Given the description of an element on the screen output the (x, y) to click on. 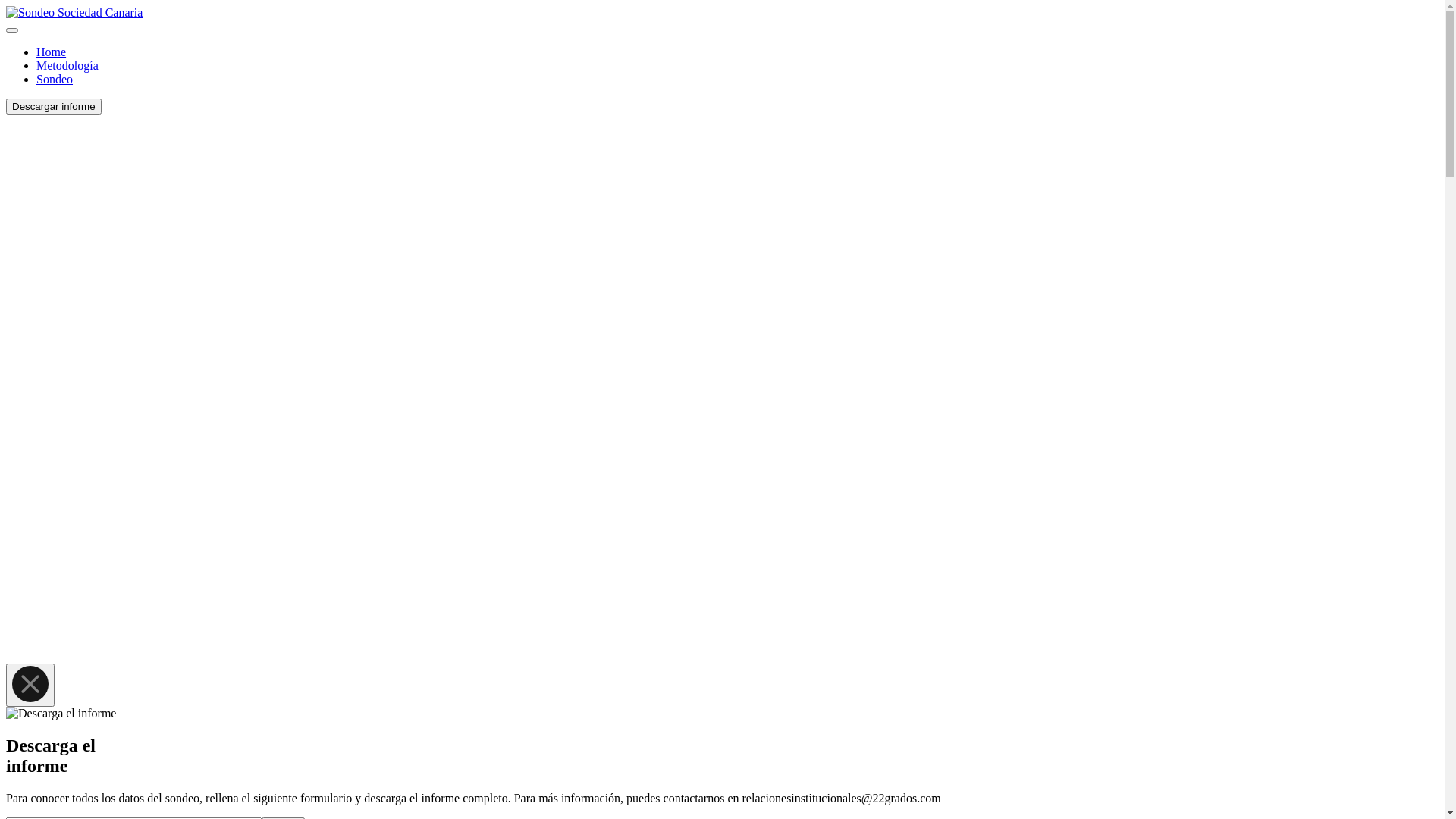
Sondeo Element type: text (54, 78)
Descargar informe Element type: text (53, 106)
Home Element type: text (50, 51)
